Given the description of an element on the screen output the (x, y) to click on. 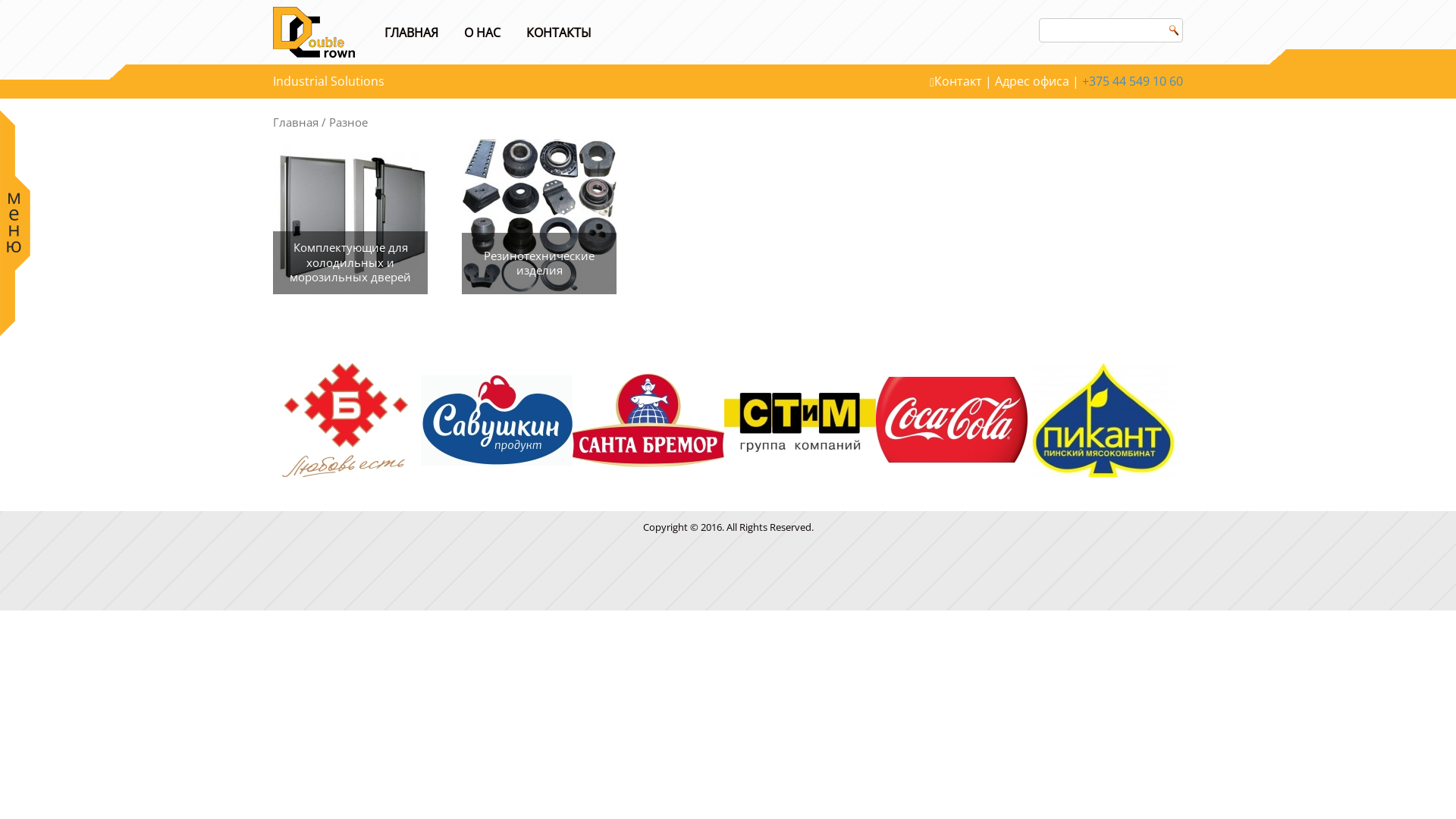
+375 44 549 10 60 Element type: text (1132, 80)
